Given the description of an element on the screen output the (x, y) to click on. 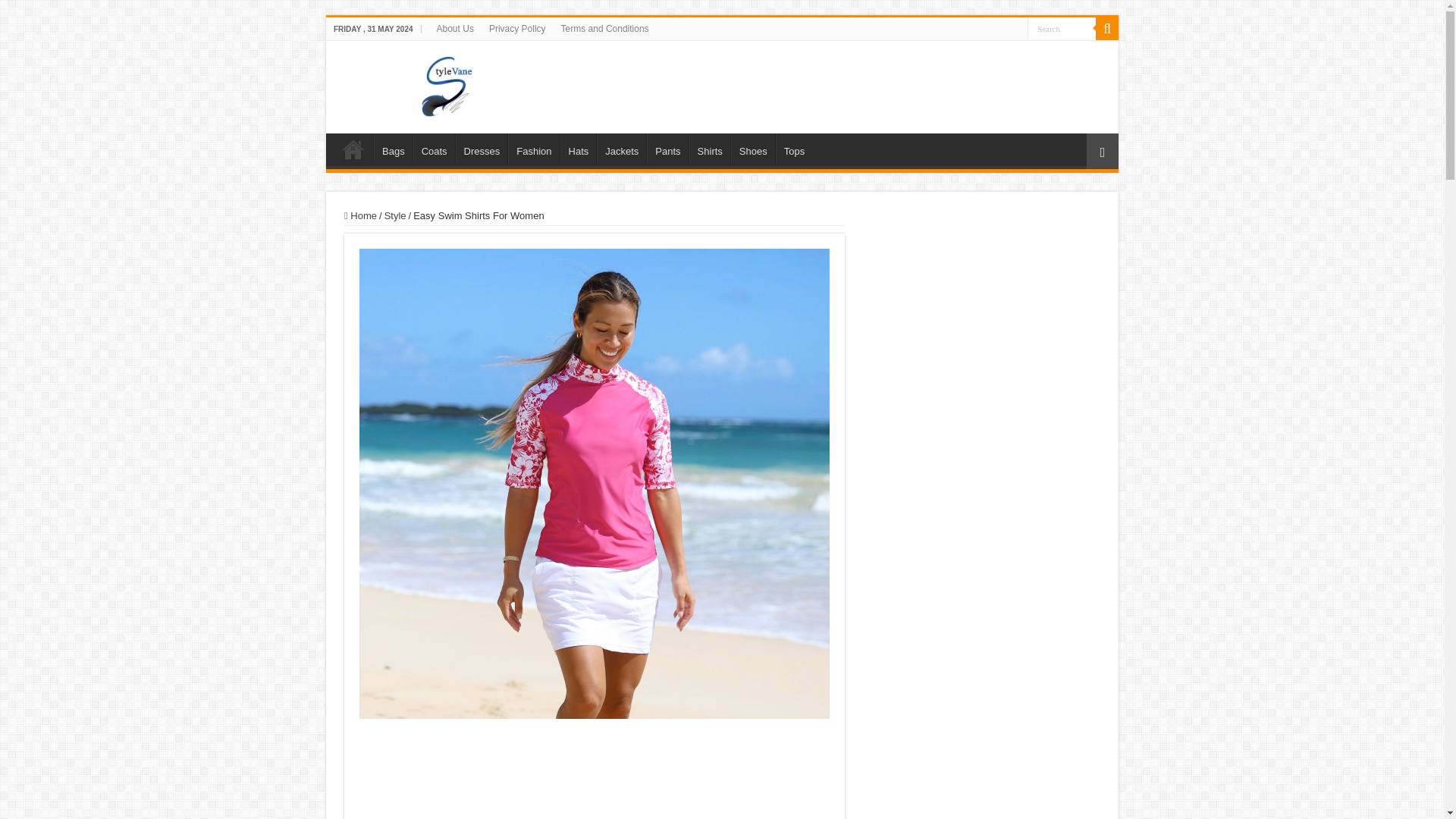
Tops (794, 149)
Shoes (752, 149)
Terms and Conditions (604, 28)
Fashion (533, 149)
Privacy Policy (517, 28)
Shirts (709, 149)
Bags (393, 149)
Search (1107, 28)
Hats (578, 149)
About Us (455, 28)
Coats (433, 149)
Home (360, 215)
Advertisement (982, 342)
stylevane.com (721, 84)
Home (352, 149)
